Given the description of an element on the screen output the (x, y) to click on. 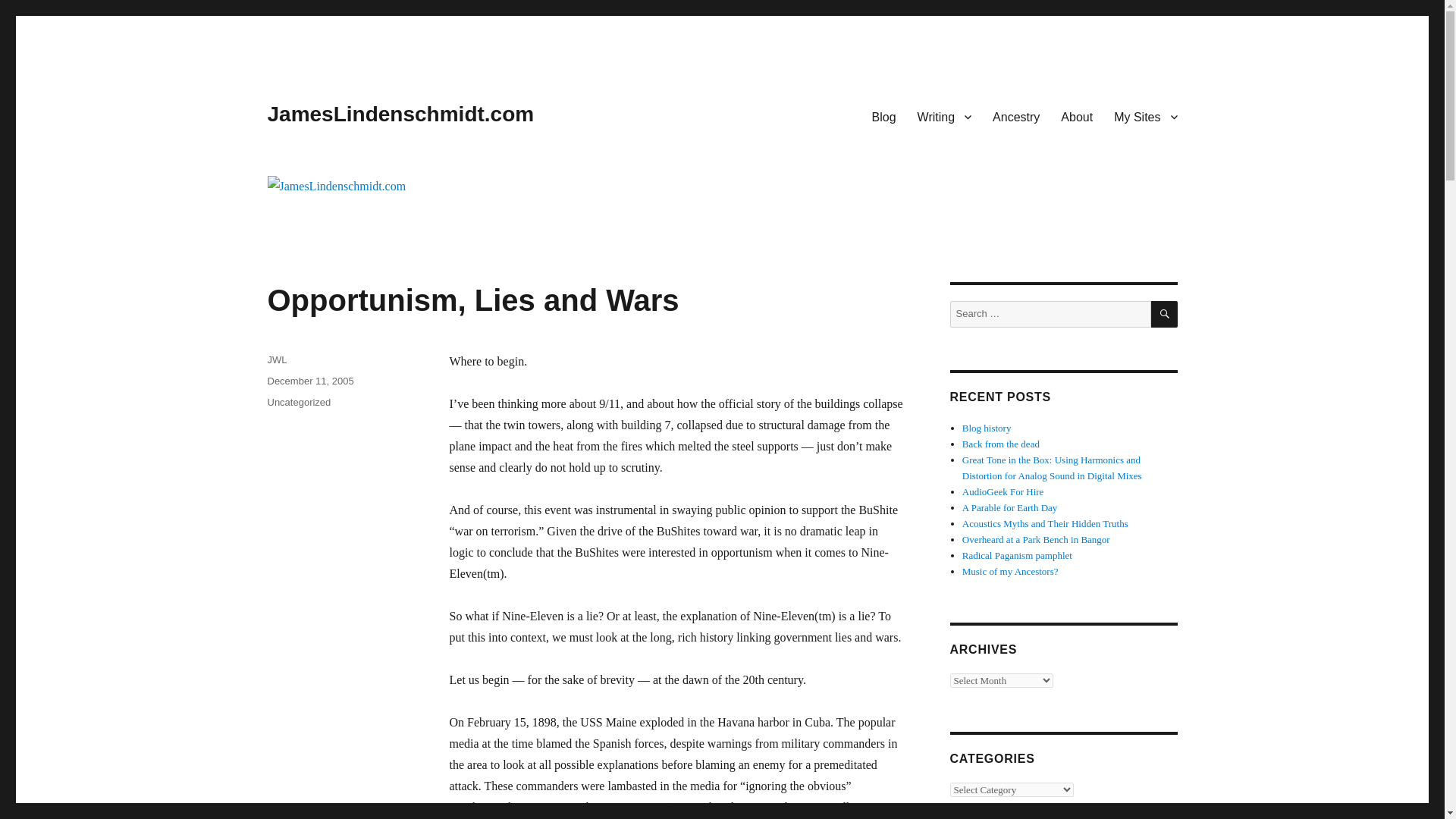
Uncategorized (298, 401)
Writing (944, 116)
Overheard at a Park Bench in Bangor (1035, 539)
JWL (276, 359)
AudioGeek For Hire (1002, 491)
Blog history (986, 428)
JamesLindenschmidt.com (400, 114)
Ancestry (1015, 116)
Blog (884, 116)
Back from the dead (1000, 443)
My Sites (1145, 116)
A Parable for Earth Day (1010, 507)
SEARCH (1164, 314)
Acoustics Myths and Their Hidden Truths (1045, 523)
Music of my Ancestors? (1010, 571)
